Given the description of an element on the screen output the (x, y) to click on. 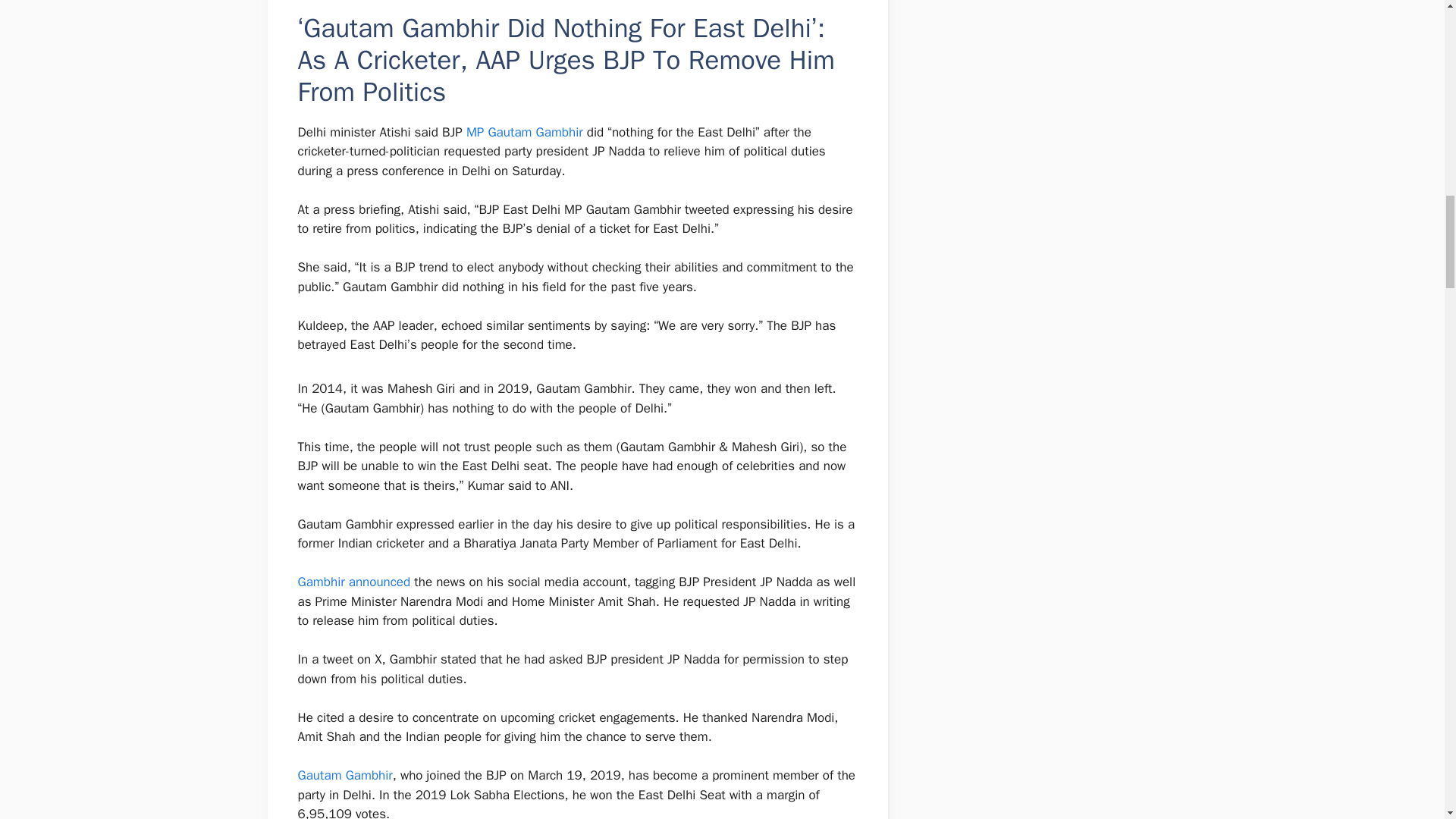
Gautam Gambhir (344, 774)
Gambhir announced (353, 581)
MP Gautam Gambhir (523, 132)
Gautam Gambhir (344, 774)
